Given the description of an element on the screen output the (x, y) to click on. 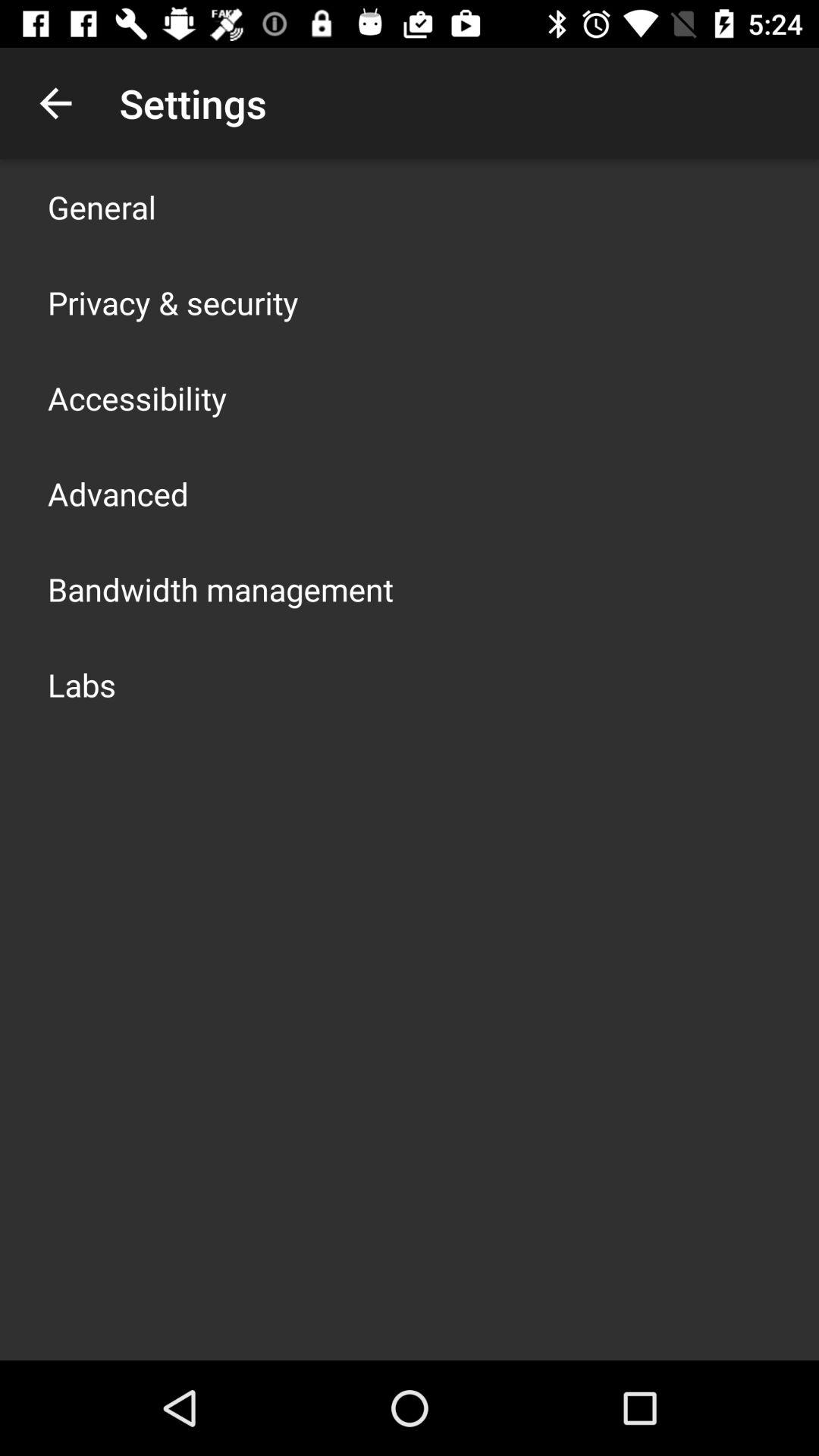
flip to the bandwidth management icon (220, 588)
